Given the description of an element on the screen output the (x, y) to click on. 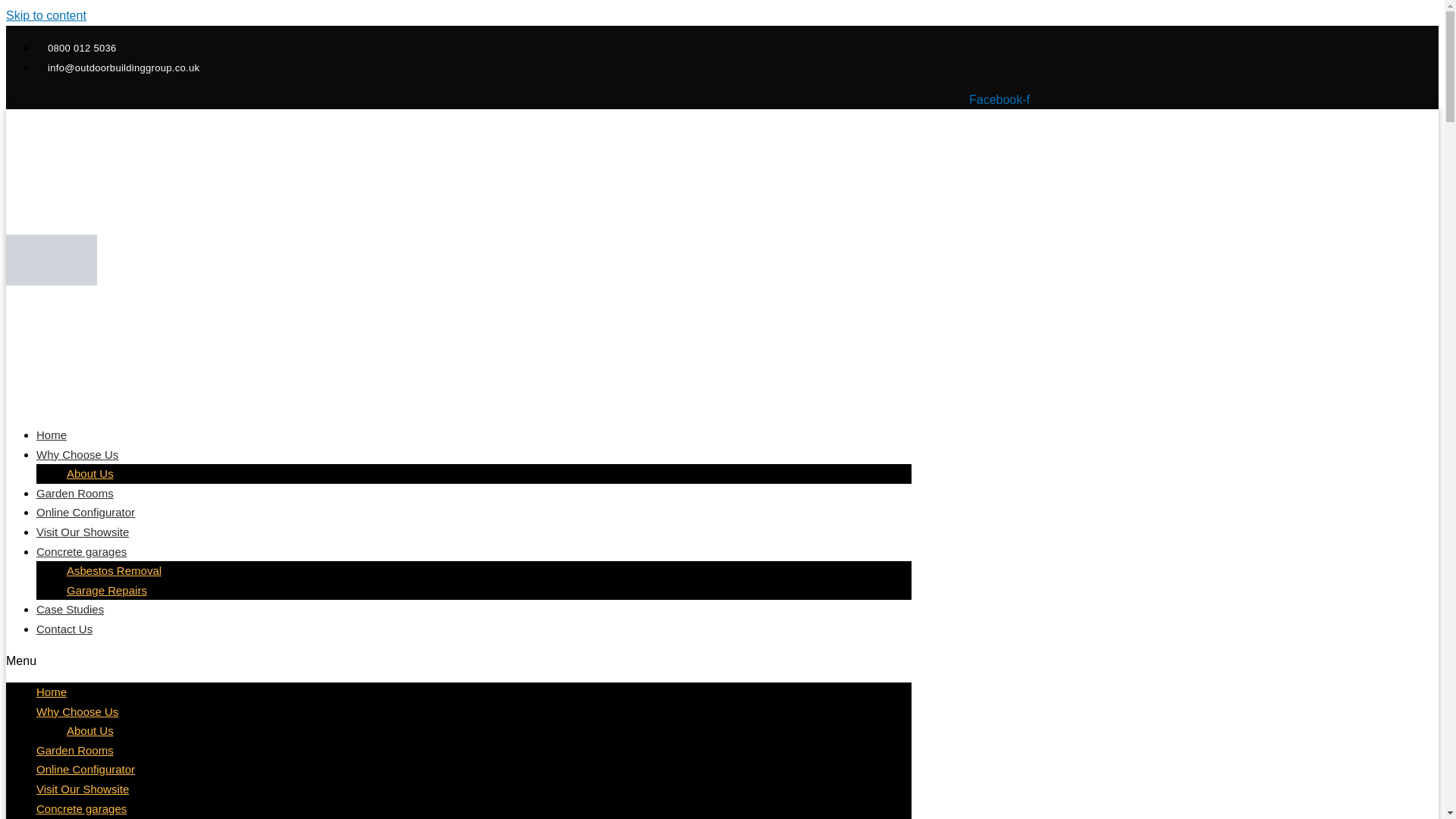
About Us (89, 730)
Concrete garages (81, 551)
Concrete garages (81, 808)
Visit Our Showsite (82, 531)
Facebook-f (999, 99)
Online Configurator (85, 511)
Online Configurator (85, 768)
About Us (89, 472)
Case Studies (69, 609)
Visit Our Showsite (82, 788)
Garden Rooms (74, 749)
Home (51, 691)
Skip to content (45, 15)
Skip to content (45, 15)
Why Choose Us (76, 711)
